Given the description of an element on the screen output the (x, y) to click on. 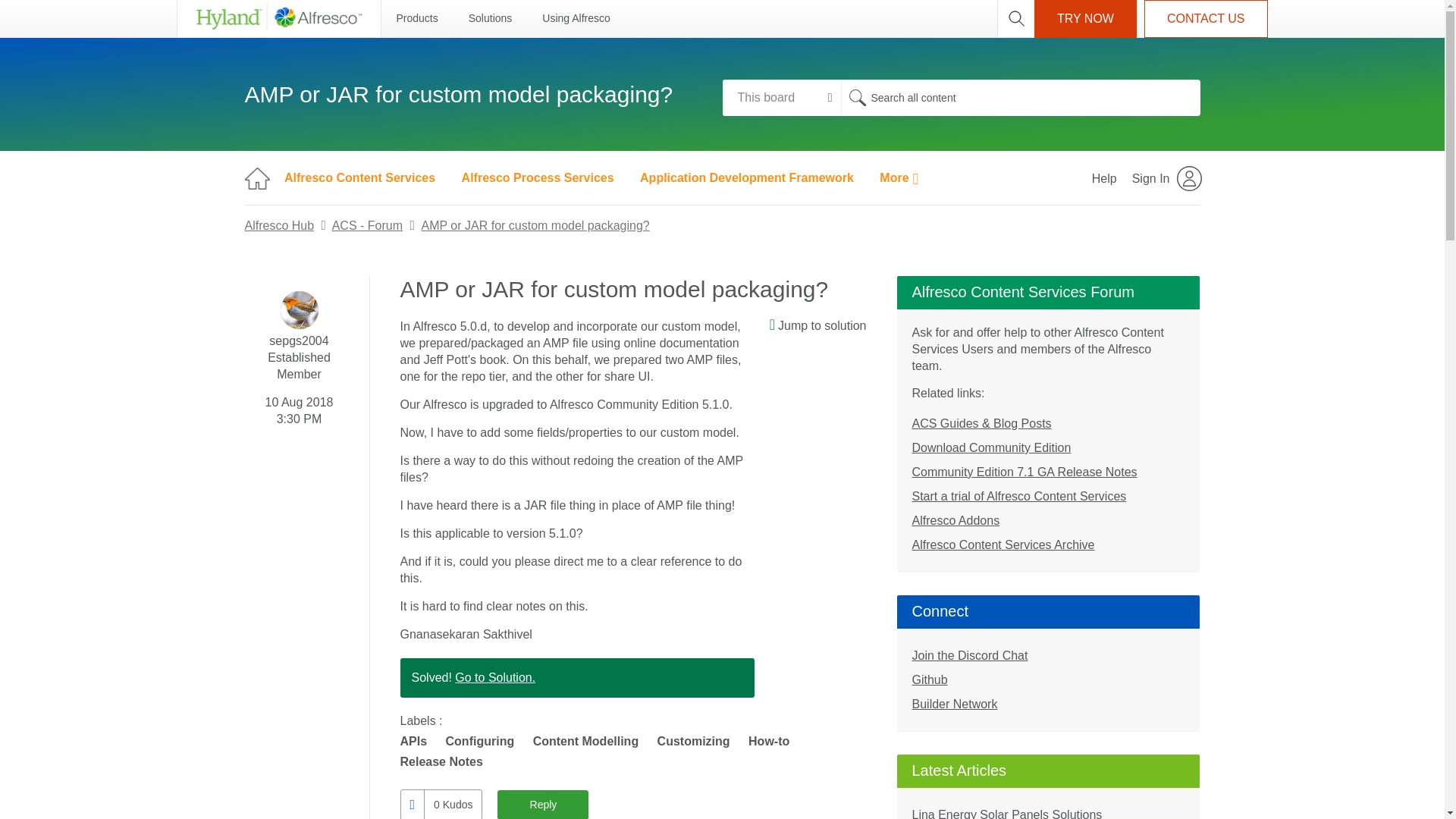
Search (856, 97)
TRY NOW (1085, 18)
The total number of kudos this post has received. (452, 804)
Using Alfresco (575, 18)
Search (856, 97)
Search (1019, 97)
Help (1104, 177)
Search Granularity (781, 97)
Community (256, 177)
Alfresco Process Services (537, 177)
sepgs2004 (299, 310)
Sign In (1167, 177)
Alfresco (278, 18)
Solutions (489, 18)
More (898, 177)
